Given the description of an element on the screen output the (x, y) to click on. 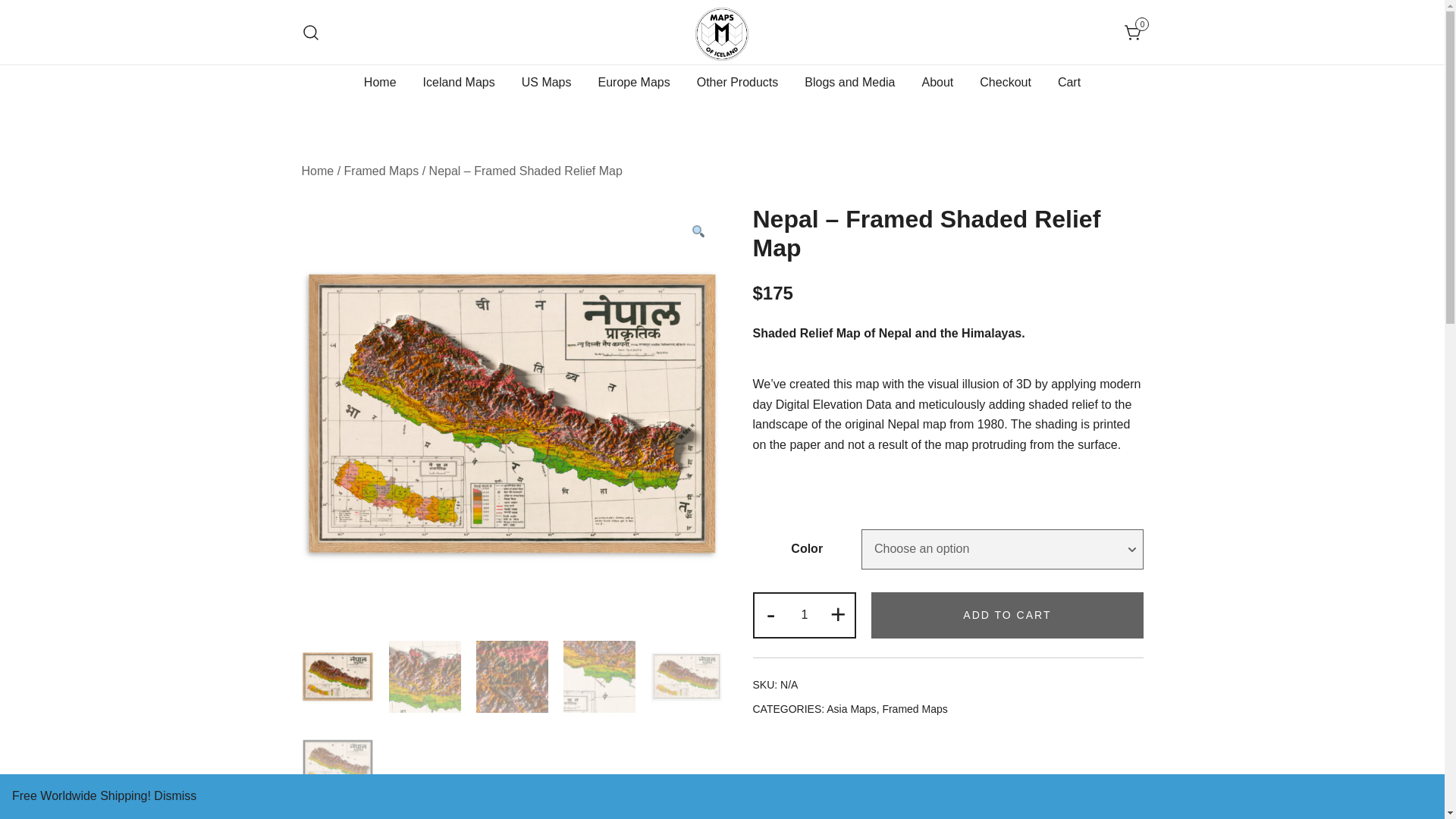
Framed Maps (381, 170)
Europe Maps (633, 82)
Maps of Iceland (646, 76)
PayPal (947, 764)
Home (317, 170)
About (937, 82)
Iceland Maps (459, 82)
Checkout (1004, 82)
0 (1133, 31)
0 (1133, 31)
Home (380, 82)
US Maps (546, 82)
View your shopping cart (1133, 31)
Blogs and Media (850, 82)
